Given the description of an element on the screen output the (x, y) to click on. 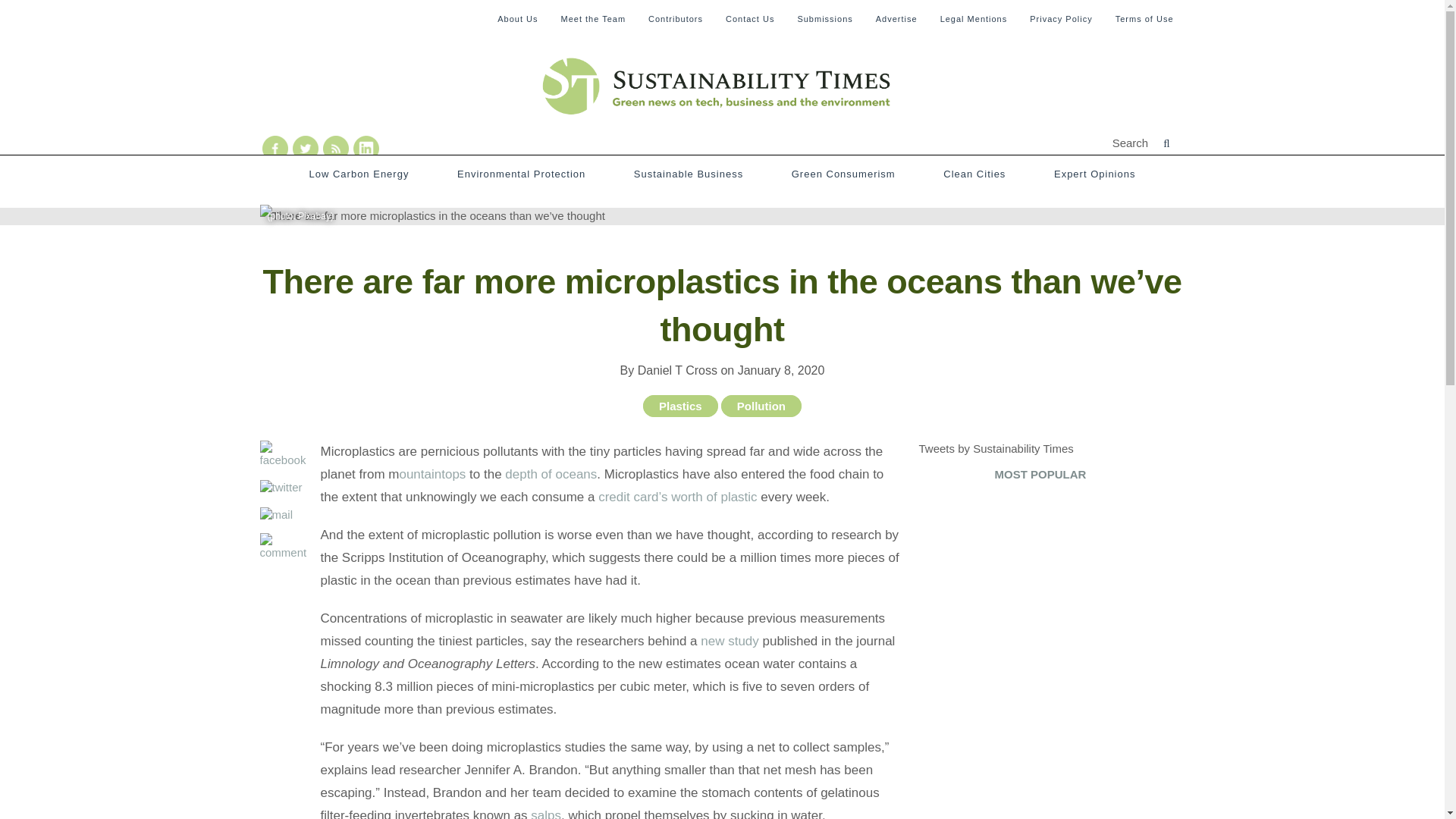
Facebook (275, 148)
Legal Mentions (973, 18)
Contact Us (749, 18)
Environmental Protection (521, 173)
Clean Cities (974, 173)
Send Email (286, 519)
Contributors (675, 18)
Posts by Daniel T Cross (677, 369)
Meet the Team (593, 18)
RSS (365, 148)
